Given the description of an element on the screen output the (x, y) to click on. 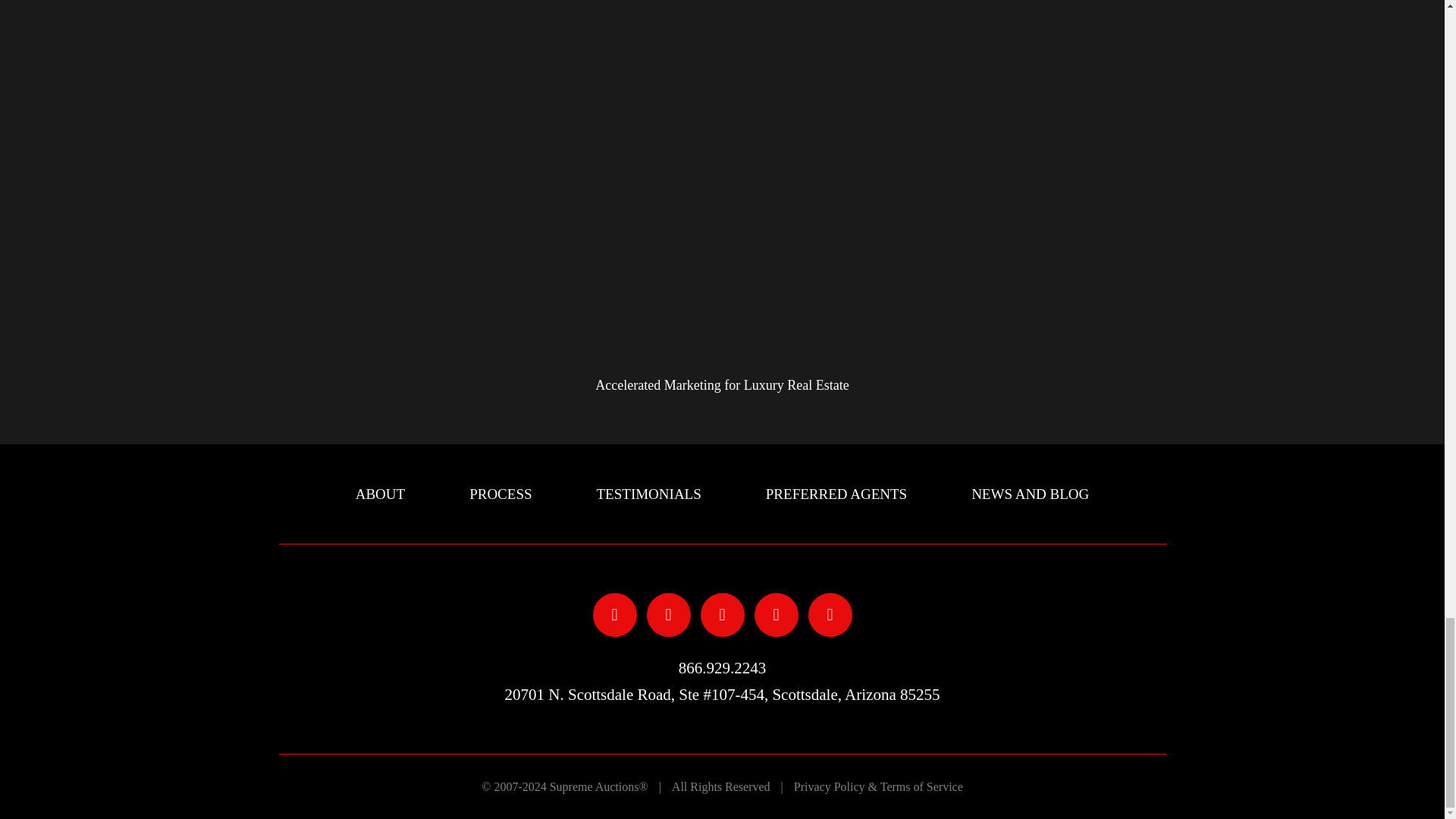
ABOUT (379, 494)
PROCESS (499, 494)
Default Label (775, 613)
Instagram (722, 613)
Facebook (614, 613)
Default Label (829, 613)
Twitter (668, 613)
TESTIMONIALS (648, 494)
